Given the description of an element on the screen output the (x, y) to click on. 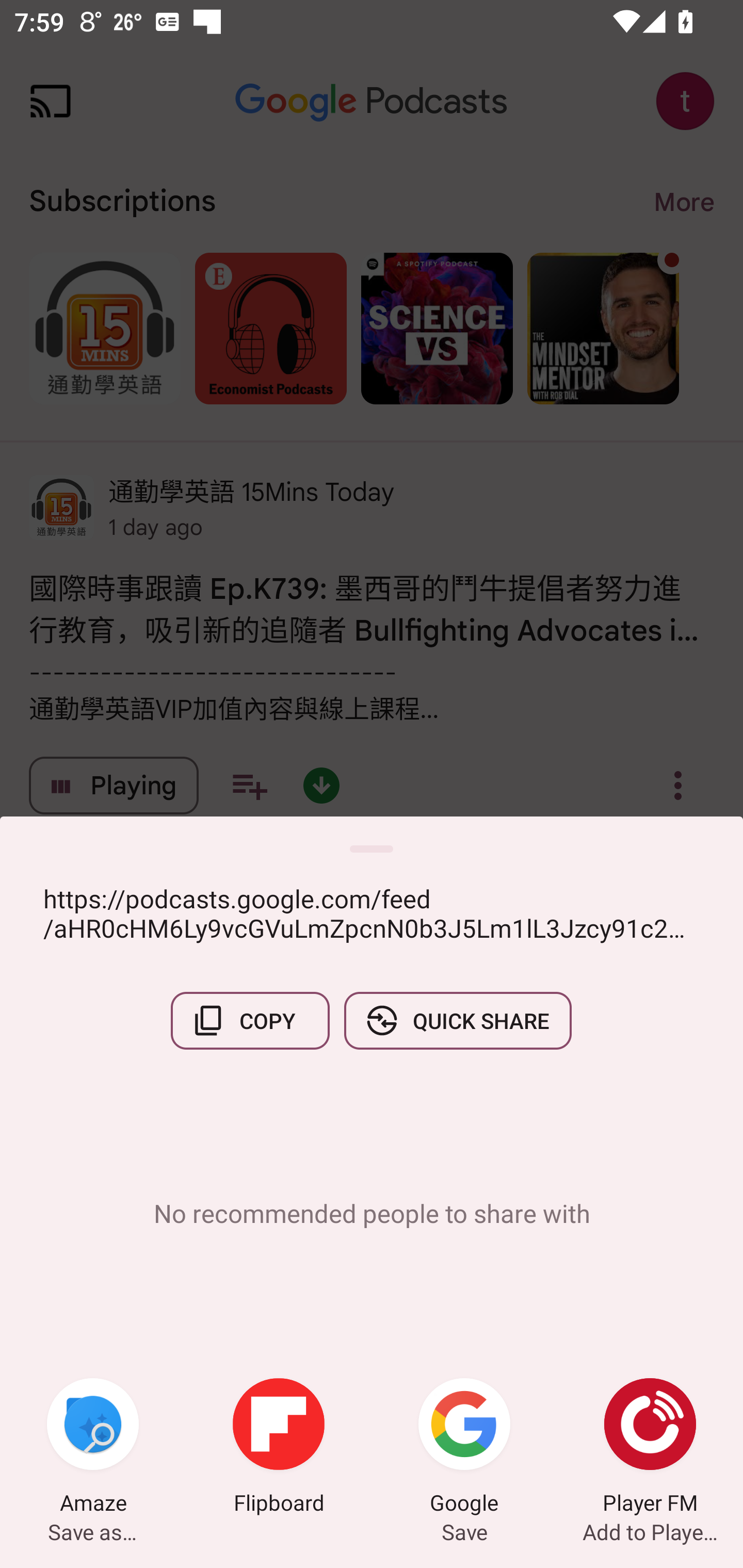
COPY (249, 1020)
QUICK SHARE (457, 1020)
Amaze Save as… (92, 1448)
Flipboard (278, 1448)
Google Save (464, 1448)
Player FM Add to Player FM (650, 1448)
